Given the description of an element on the screen output the (x, y) to click on. 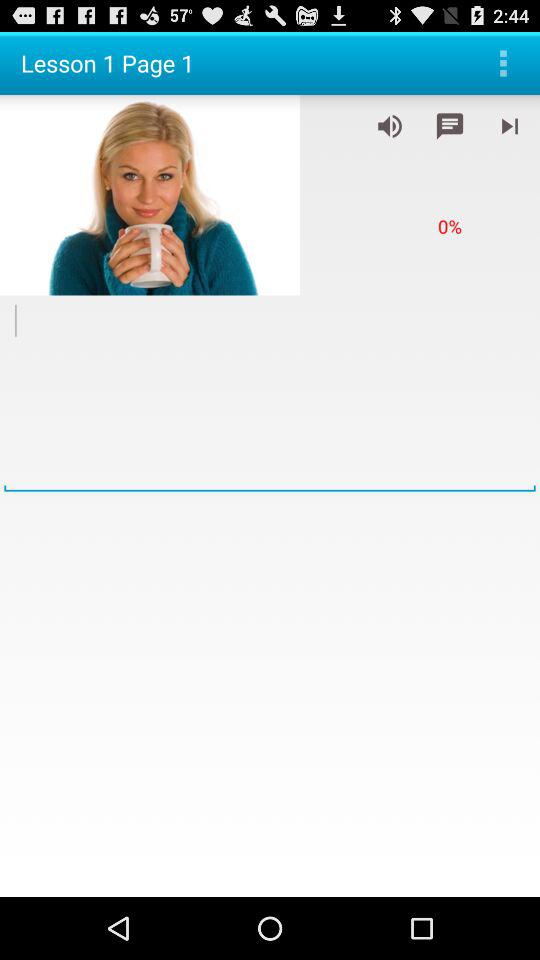
open groupchat (450, 125)
